Given the description of an element on the screen output the (x, y) to click on. 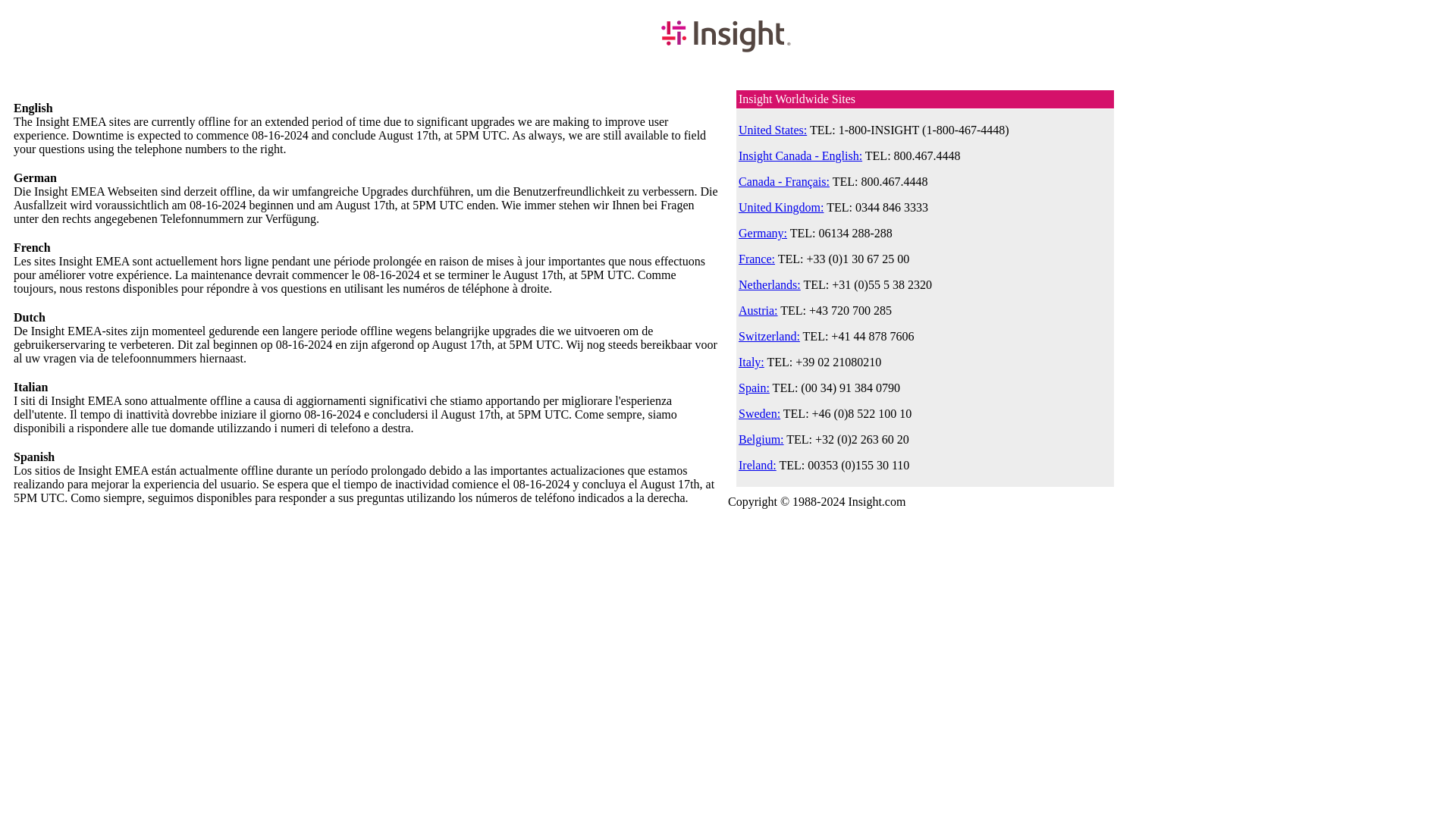
Sweden: (759, 413)
United Kingdom: (781, 206)
Germany: (762, 232)
Spain: (754, 387)
Switzerland: (768, 336)
Insight Canada - English: (799, 155)
Austria: (757, 309)
France: (756, 258)
Belgium: (761, 439)
Ireland: (757, 464)
